Given the description of an element on the screen output the (x, y) to click on. 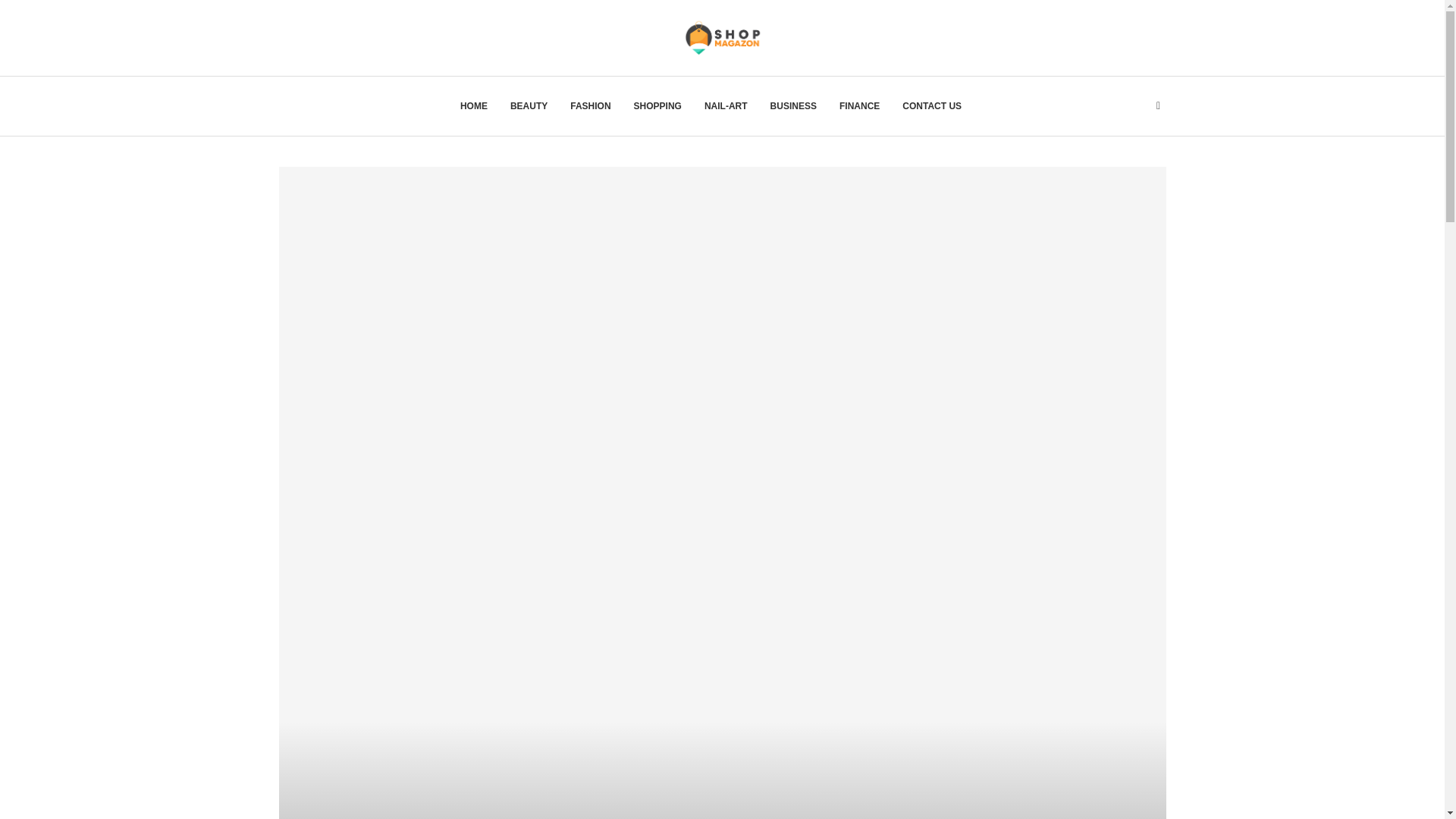
FASHION (590, 105)
SHOPPING (657, 105)
FINANCE (859, 105)
CONTACT US (931, 105)
NAIL-ART (726, 105)
BUSINESS (793, 105)
